Given the description of an element on the screen output the (x, y) to click on. 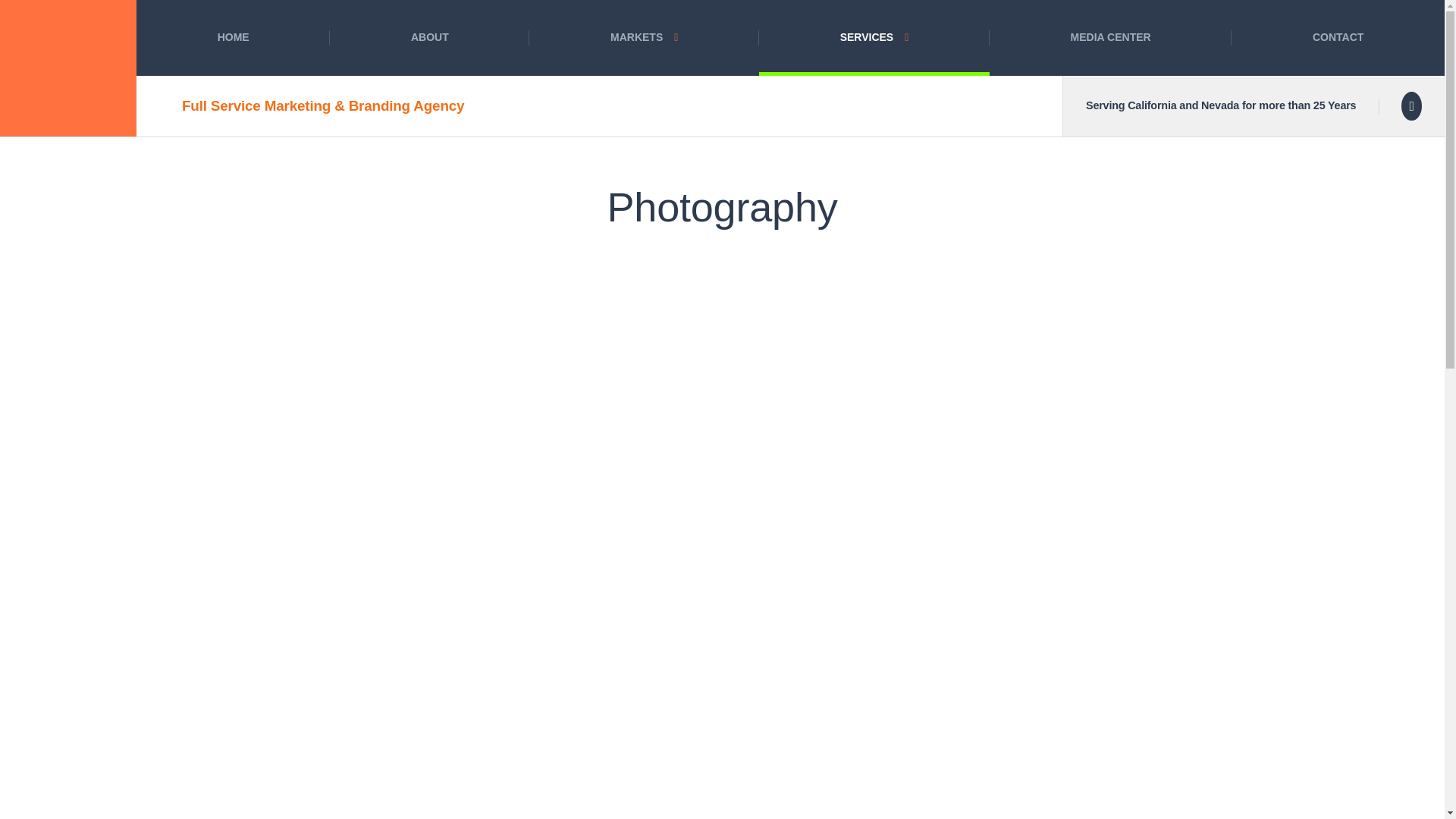
HOME (233, 38)
ABOUT (429, 38)
MARKETS (643, 38)
MEDIA CENTER (1110, 38)
SERVICES (874, 38)
